Given the description of an element on the screen output the (x, y) to click on. 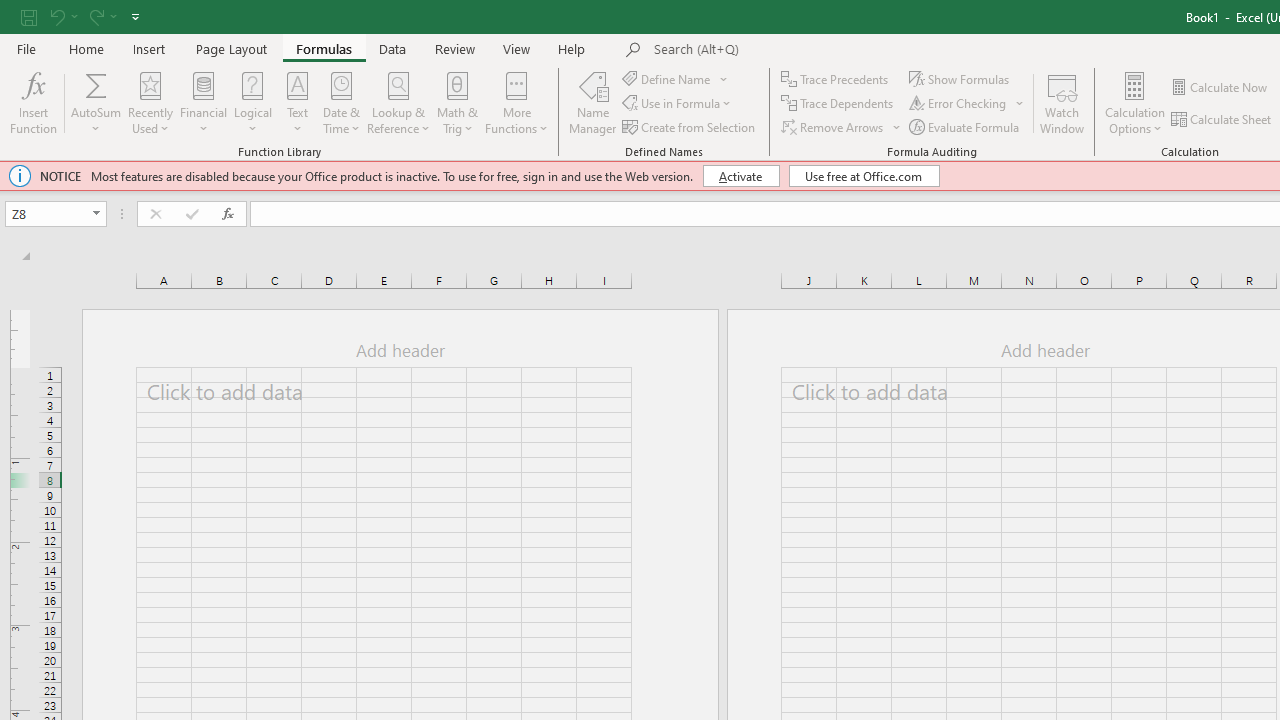
Calculate Now (1220, 87)
Create from Selection... (690, 126)
Insert Function... (33, 102)
Remove Arrows (842, 126)
Activate (740, 175)
Trace Dependents (838, 103)
Define Name (676, 78)
Name Manager (593, 102)
Recently Used (150, 102)
